Given the description of an element on the screen output the (x, y) to click on. 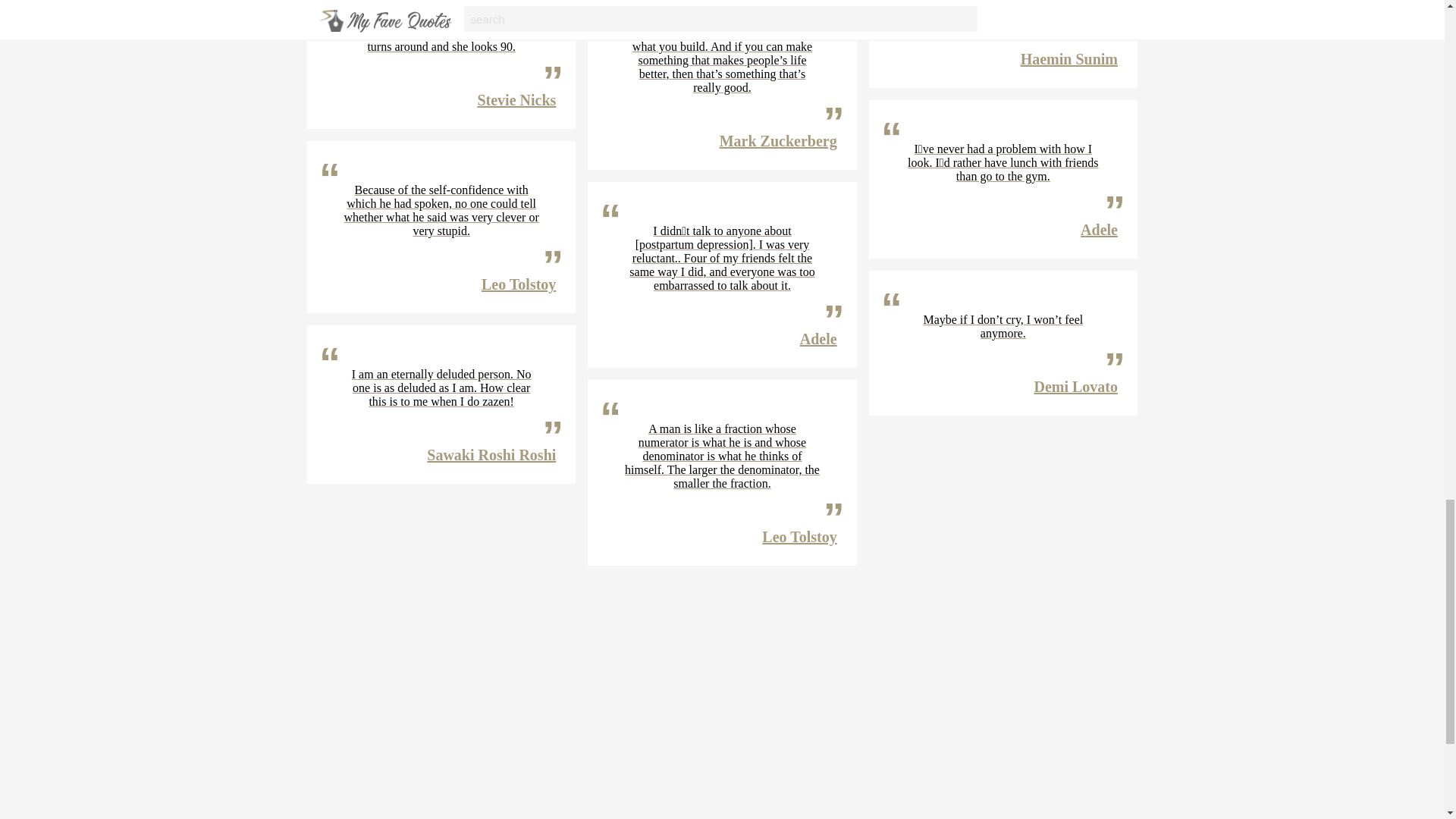
Stevie Nicks (516, 99)
Leo Tolstoy (518, 284)
